Given the description of an element on the screen output the (x, y) to click on. 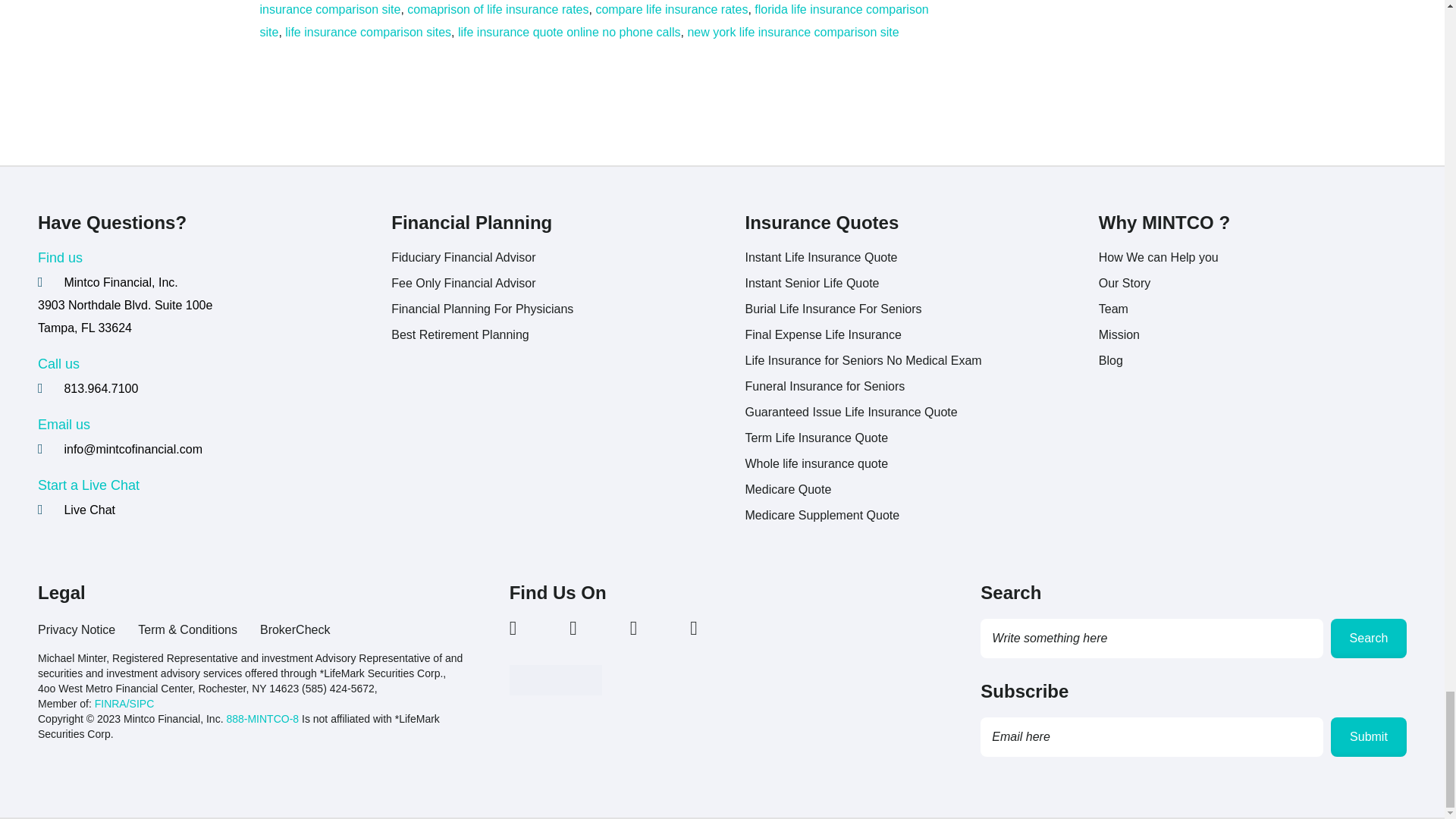
Submit (1368, 736)
